Given the description of an element on the screen output the (x, y) to click on. 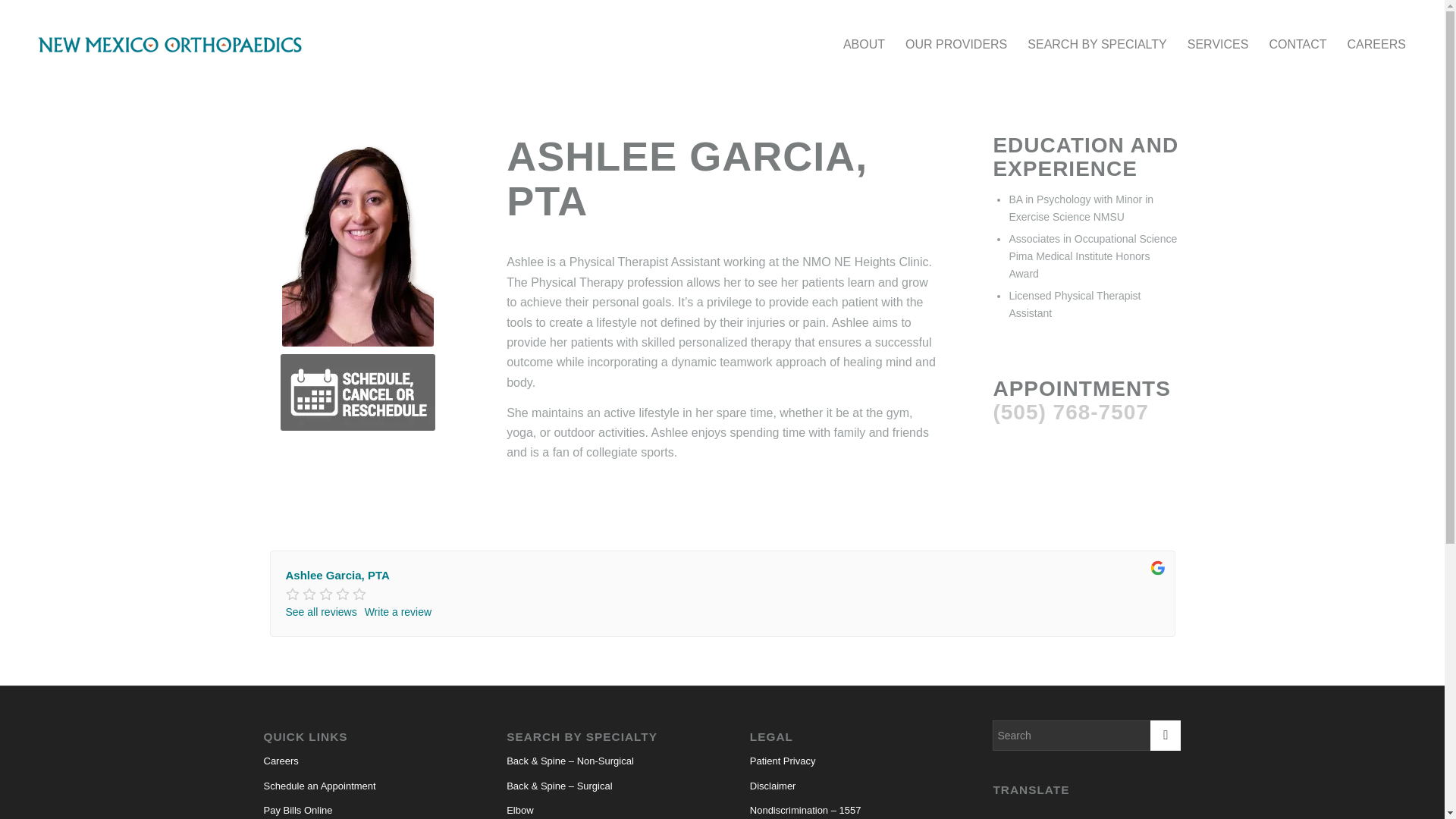
OUR PROVIDERS (955, 44)
Specialists (1096, 44)
SEARCH BY SPECIALTY (1096, 44)
Our Providers (955, 44)
SERVICES (1217, 44)
NMO Logo Teal (170, 44)
